Given the description of an element on the screen output the (x, y) to click on. 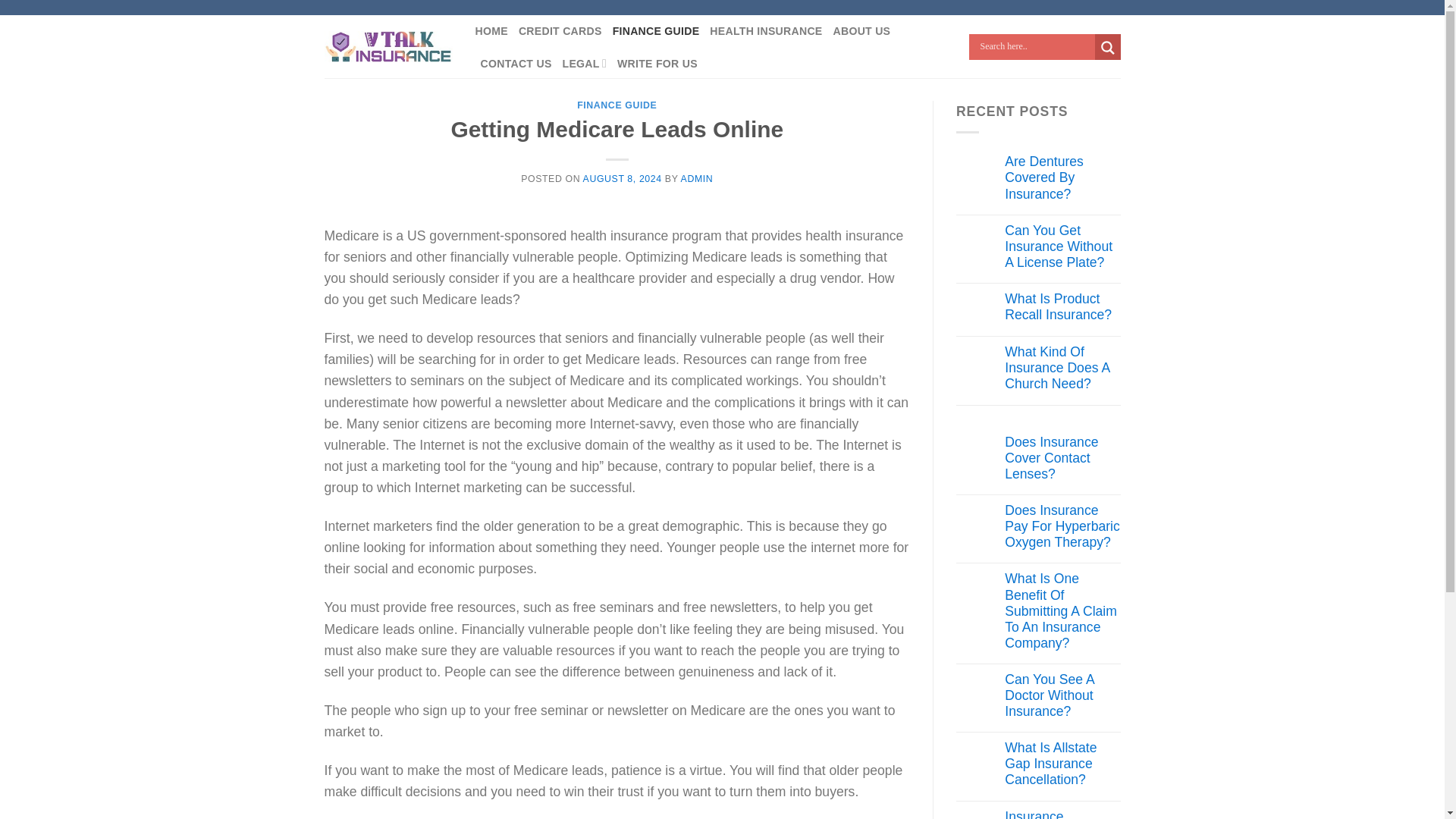
CREDIT CARDS (560, 31)
HOME (490, 31)
HEALTH INSURANCE (766, 31)
Does Insurance Pay For Hyperbaric Oxygen Therapy? (1061, 526)
LEGAL (584, 63)
ADMIN (697, 178)
What Is Product Recall Insurance? (1061, 306)
VtalkInsurance - A Finance Blog (388, 46)
